Given the description of an element on the screen output the (x, y) to click on. 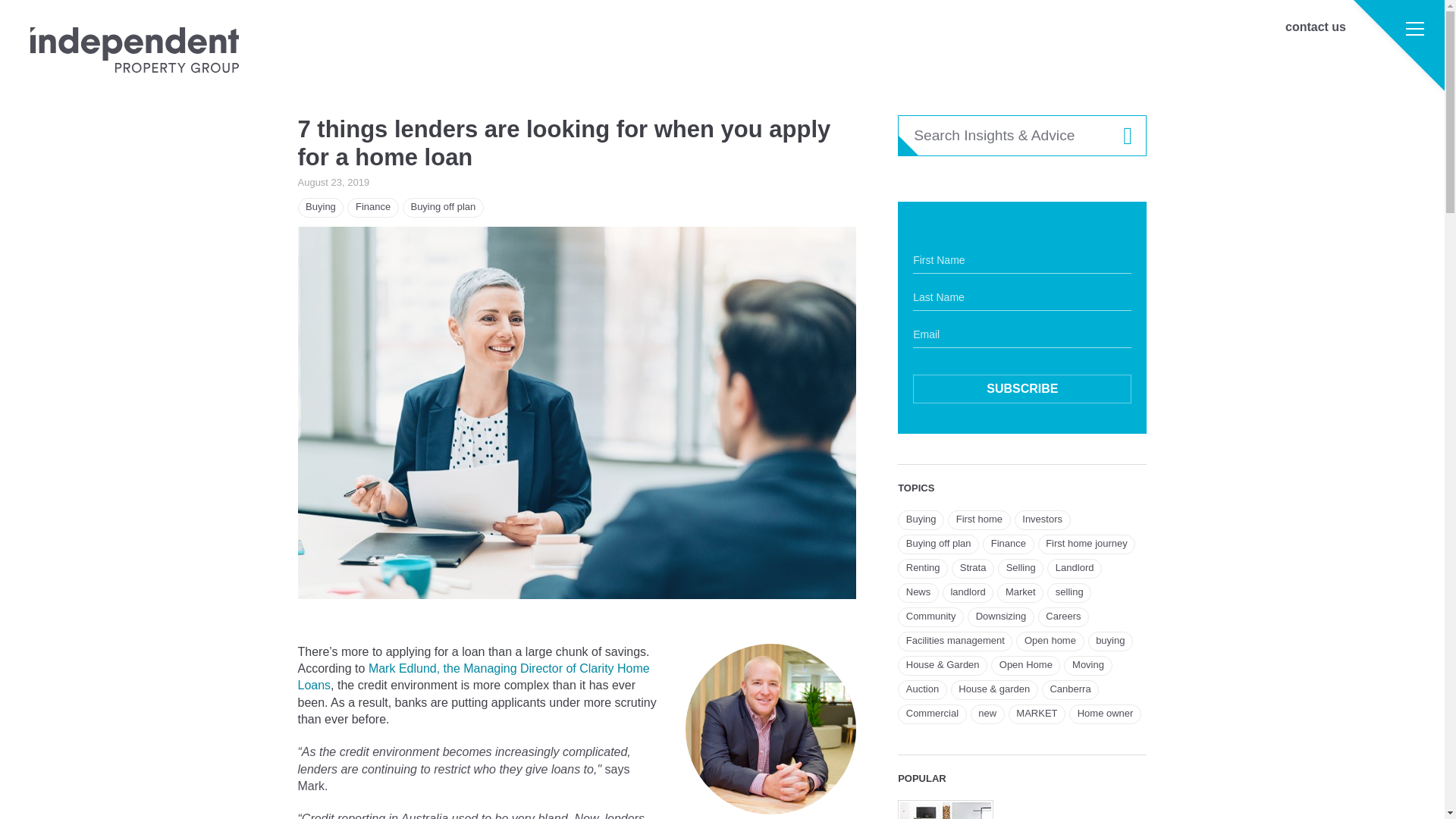
SUBSCRIBE (1021, 388)
Clarity Home Loans (473, 676)
contact us (1315, 27)
